Given the description of an element on the screen output the (x, y) to click on. 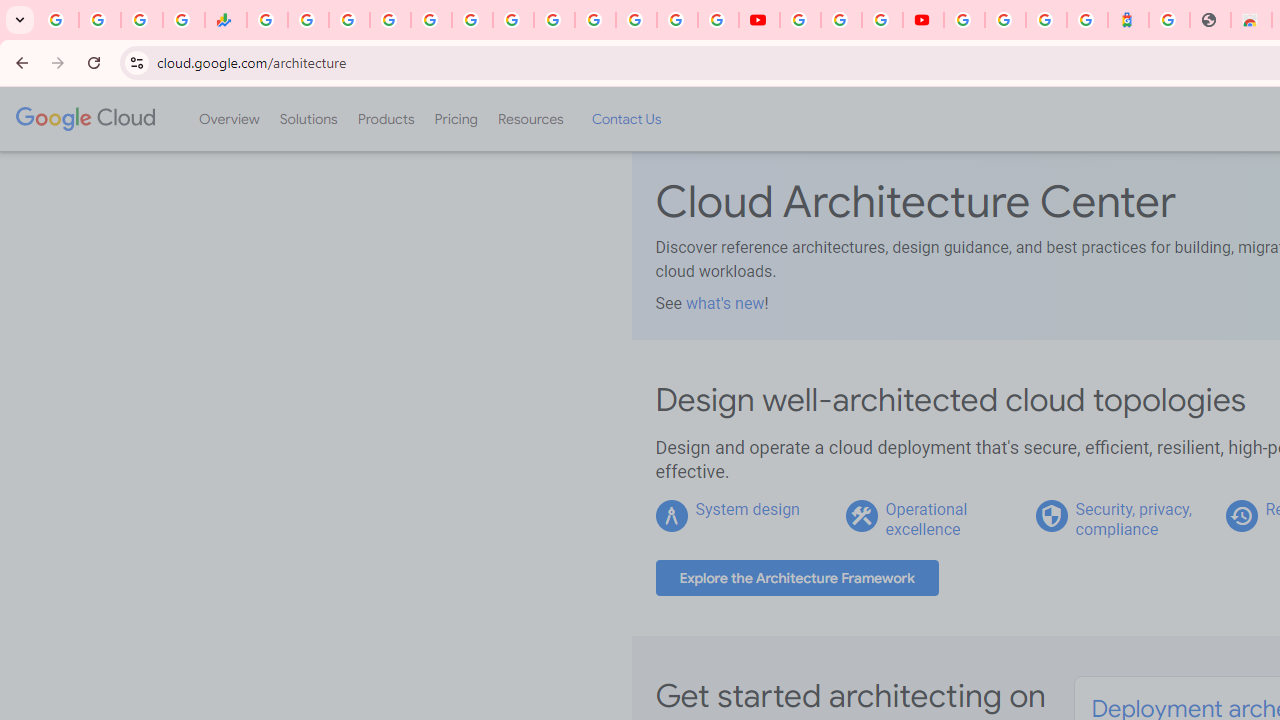
Contact Us (626, 119)
Content Creator Programs & Opportunities - YouTube Creators (923, 20)
Operational excellence (925, 519)
System design (747, 509)
Android TV Policies and Guidelines - Transparency Center (512, 20)
what's new (724, 303)
Sign in - Google Accounts (964, 20)
Overview (228, 119)
YouTube (799, 20)
